Given the description of an element on the screen output the (x, y) to click on. 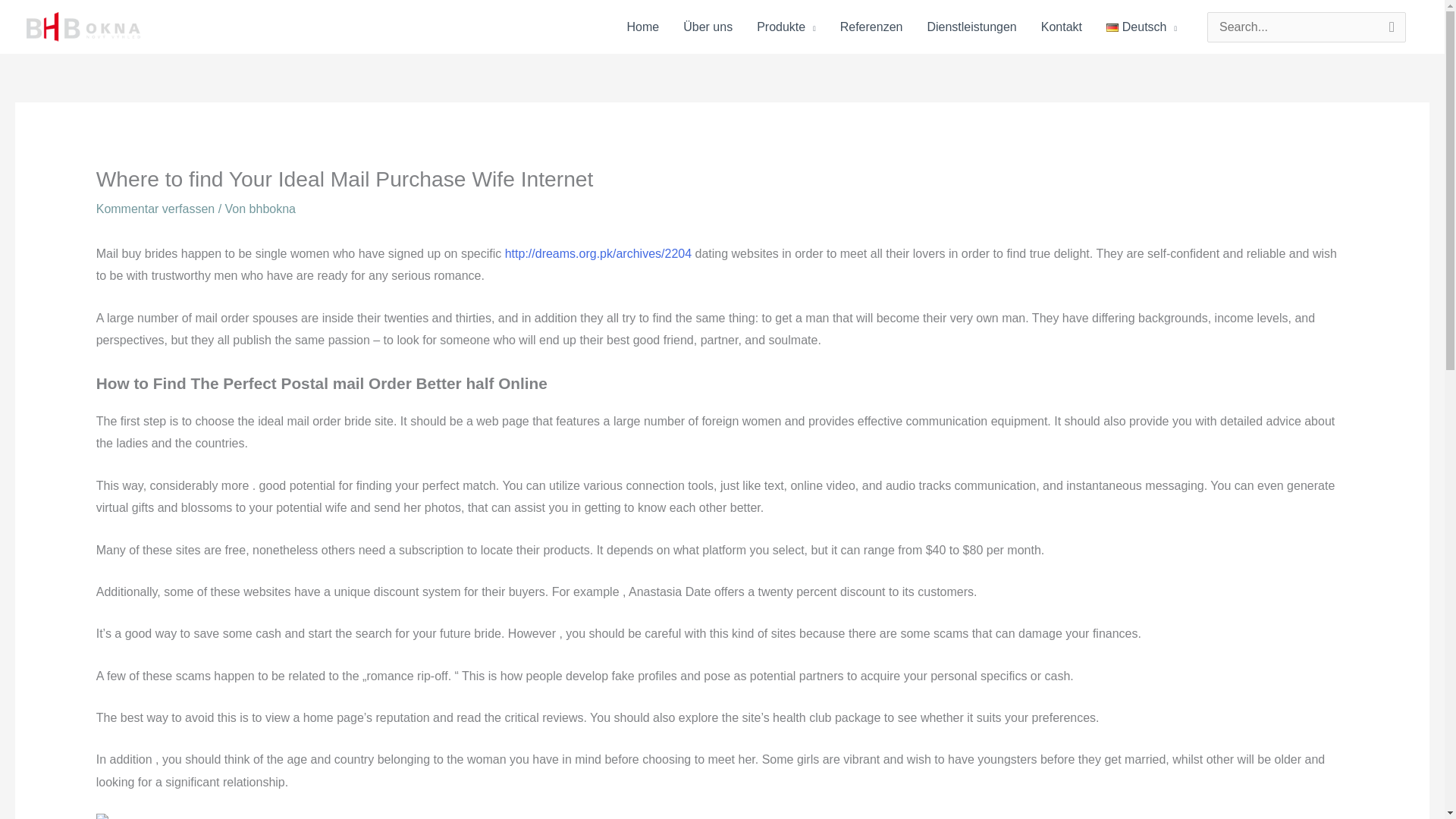
Dienstleistungen (970, 27)
Deutsch (1141, 27)
Home (642, 27)
Referenzen (871, 27)
Produkte (786, 27)
Kontakt (1061, 27)
